Given the description of an element on the screen output the (x, y) to click on. 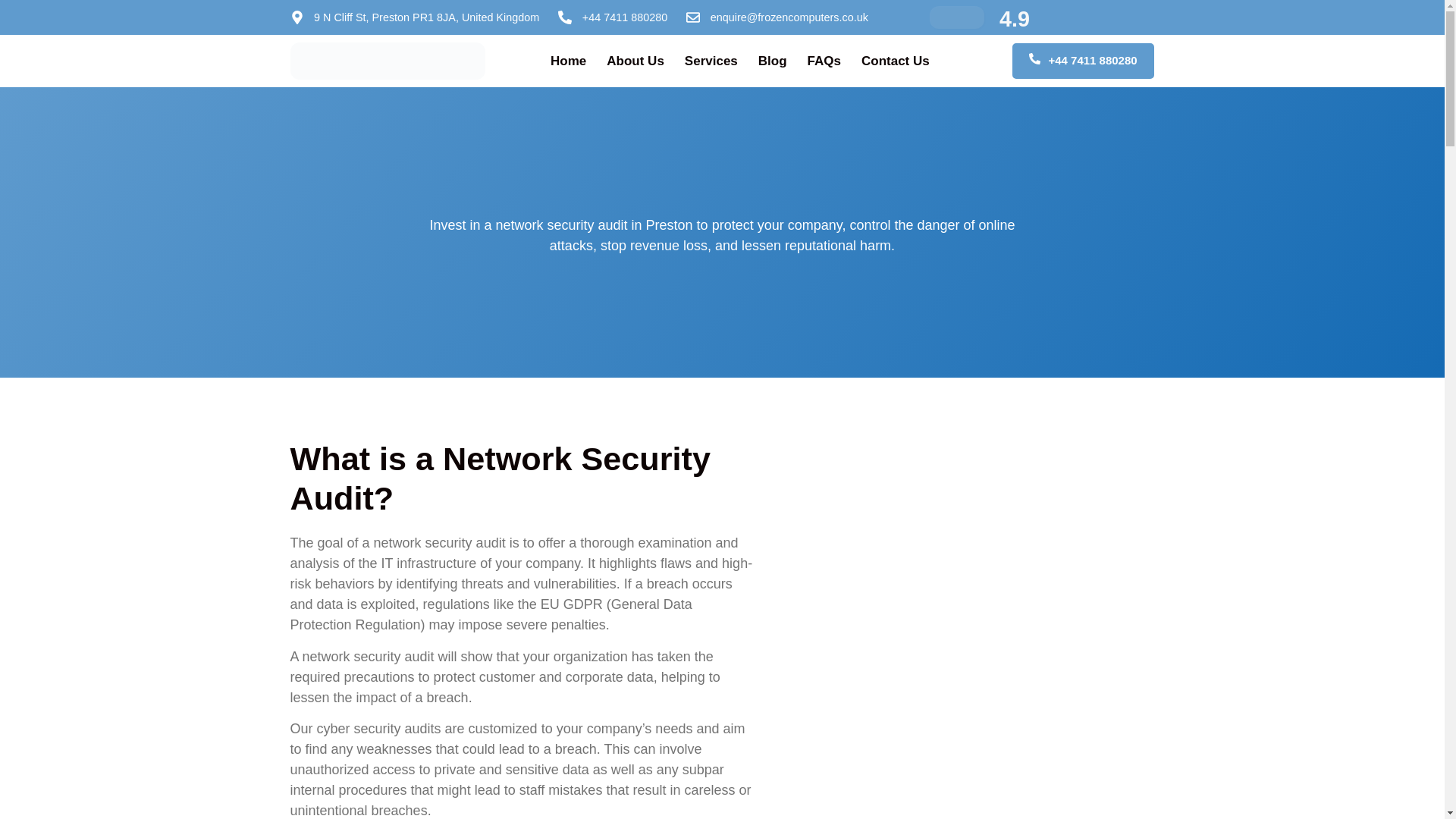
Services (711, 61)
FAQs (824, 61)
About Us (635, 61)
9 N Cliff St, Preston PR1 8JA, United Kingdom (413, 17)
Home (568, 61)
Contact Us (895, 61)
